Given the description of an element on the screen output the (x, y) to click on. 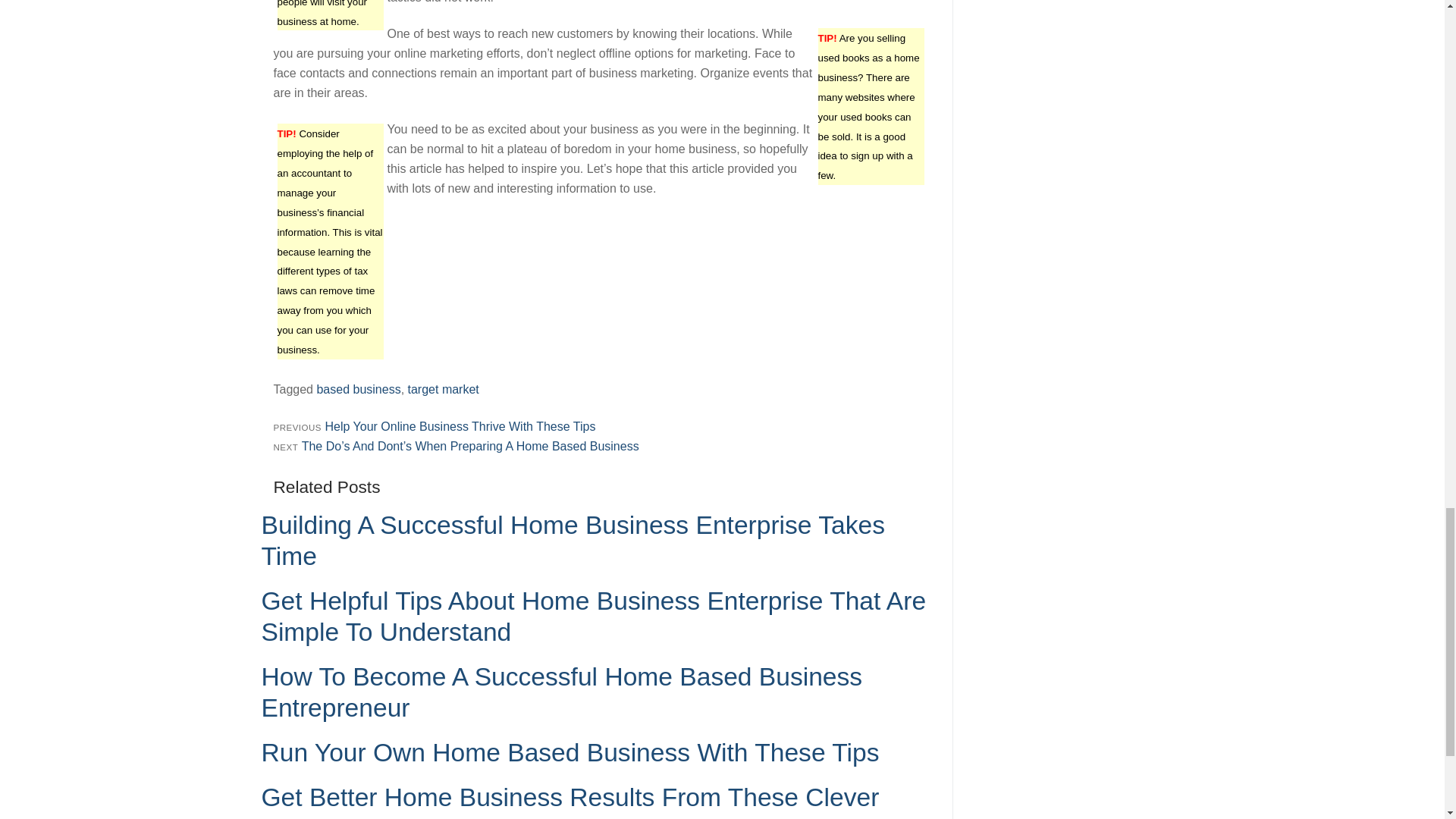
target market (443, 389)
Run Your Own Home Based Business With These Tips (569, 752)
based business (357, 389)
Get Better Home Business Results From These Clever Ideas (569, 800)
Run Your Own Home Based Business With These Tips (569, 752)
Building A Successful Home Business Enterprise Takes Time (571, 540)
Get Better Home Business Results From These Clever Ideas (569, 800)
How To Become A Successful Home Based Business Entrepreneur (560, 691)
How To Become A Successful Home Based Business Entrepreneur (560, 691)
Building A Successful Home Business Enterprise Takes Time (571, 540)
